Given the description of an element on the screen output the (x, y) to click on. 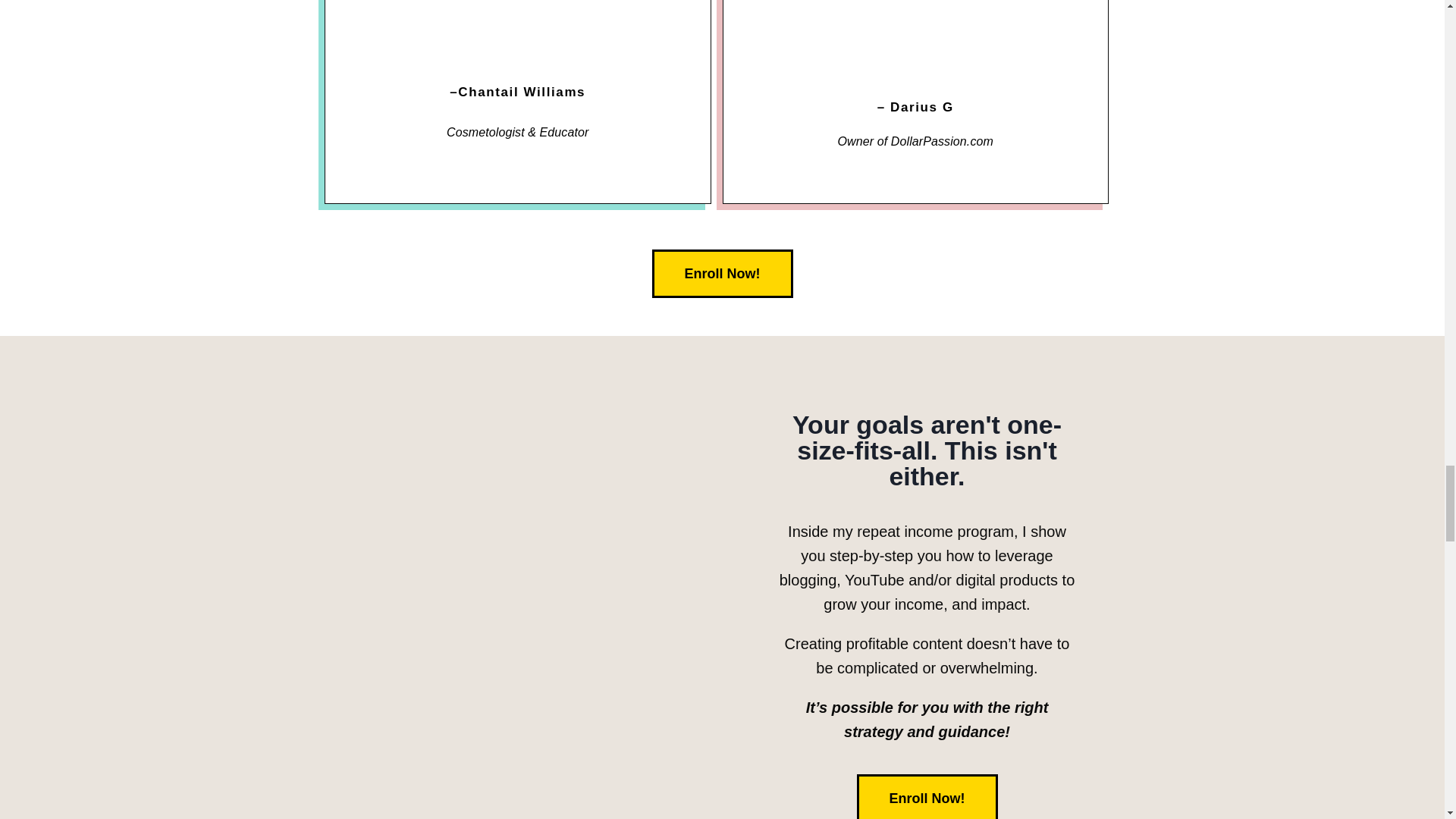
Enroll Now! (927, 796)
Screen-Shot-2019-07-25-at-3.31.54-PM.png (517, 33)
Screenshot-2021-04-05-at-5.15.31-PM.png (914, 33)
Enroll Now! (722, 273)
